Given the description of an element on the screen output the (x, y) to click on. 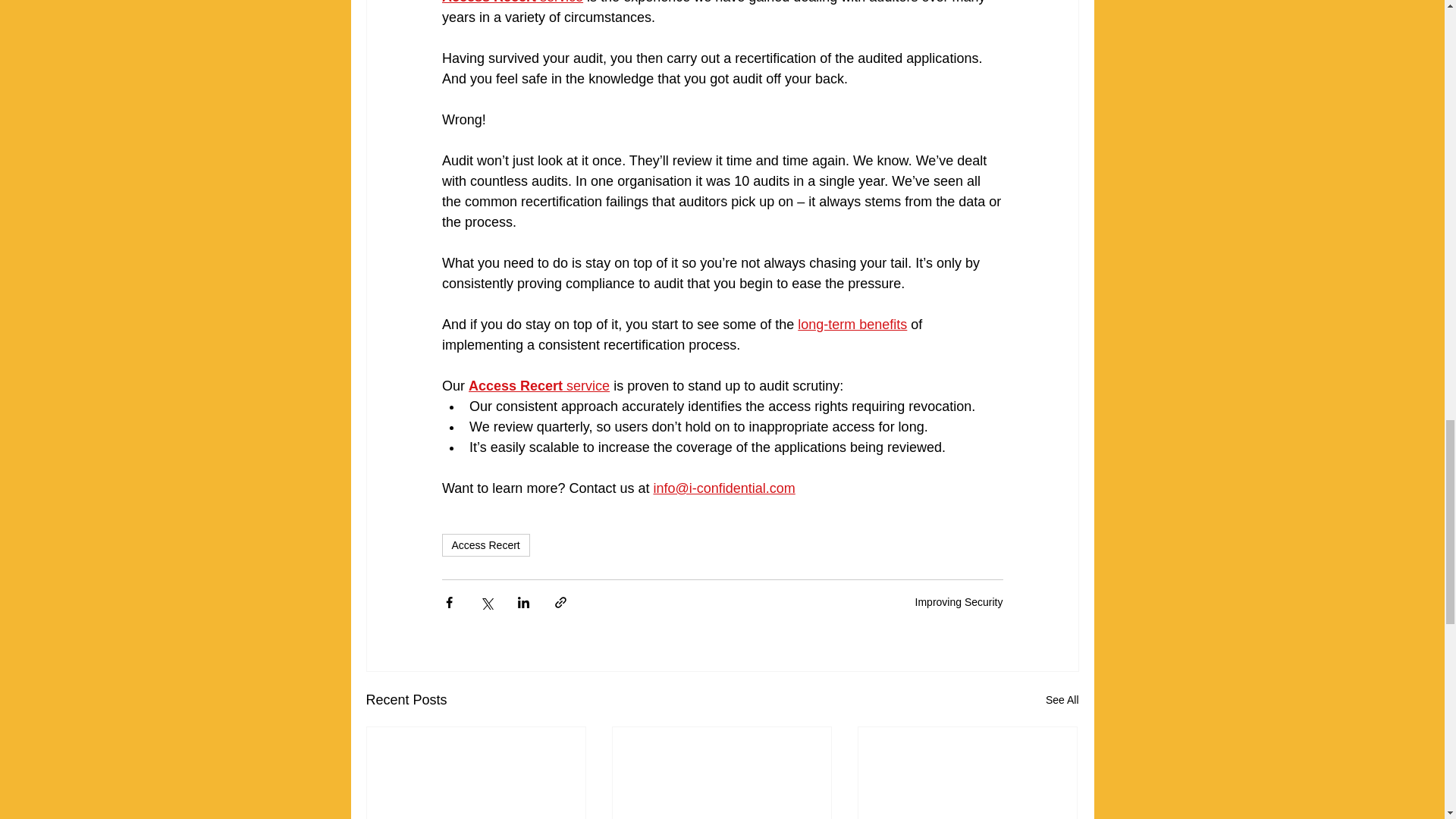
 service (559, 2)
Access Recert (488, 2)
long-term benefits (852, 324)
See All (1061, 700)
Access Recert (485, 544)
 service (586, 385)
Access Recert (515, 385)
Improving Security (959, 602)
